Given the description of an element on the screen output the (x, y) to click on. 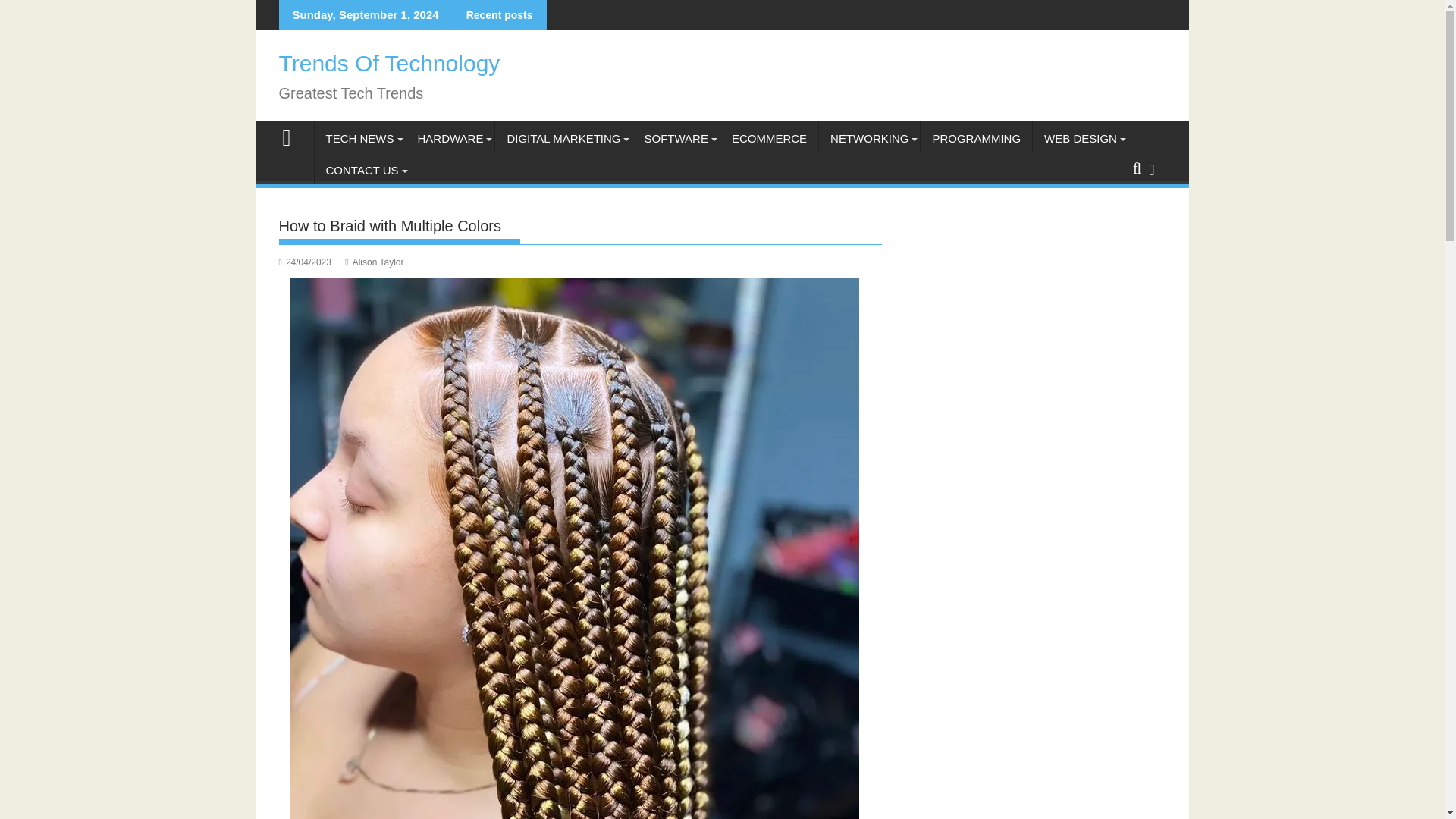
NETWORKING (869, 138)
CONTACT US (361, 170)
Trends Of Technology (293, 136)
PROGRAMMING (976, 138)
TECH NEWS (359, 138)
DIGITAL MARKETING (563, 138)
WEB DESIGN (1080, 138)
SOFTWARE (675, 138)
ECOMMERCE (769, 138)
HARDWARE (450, 138)
